Given the description of an element on the screen output the (x, y) to click on. 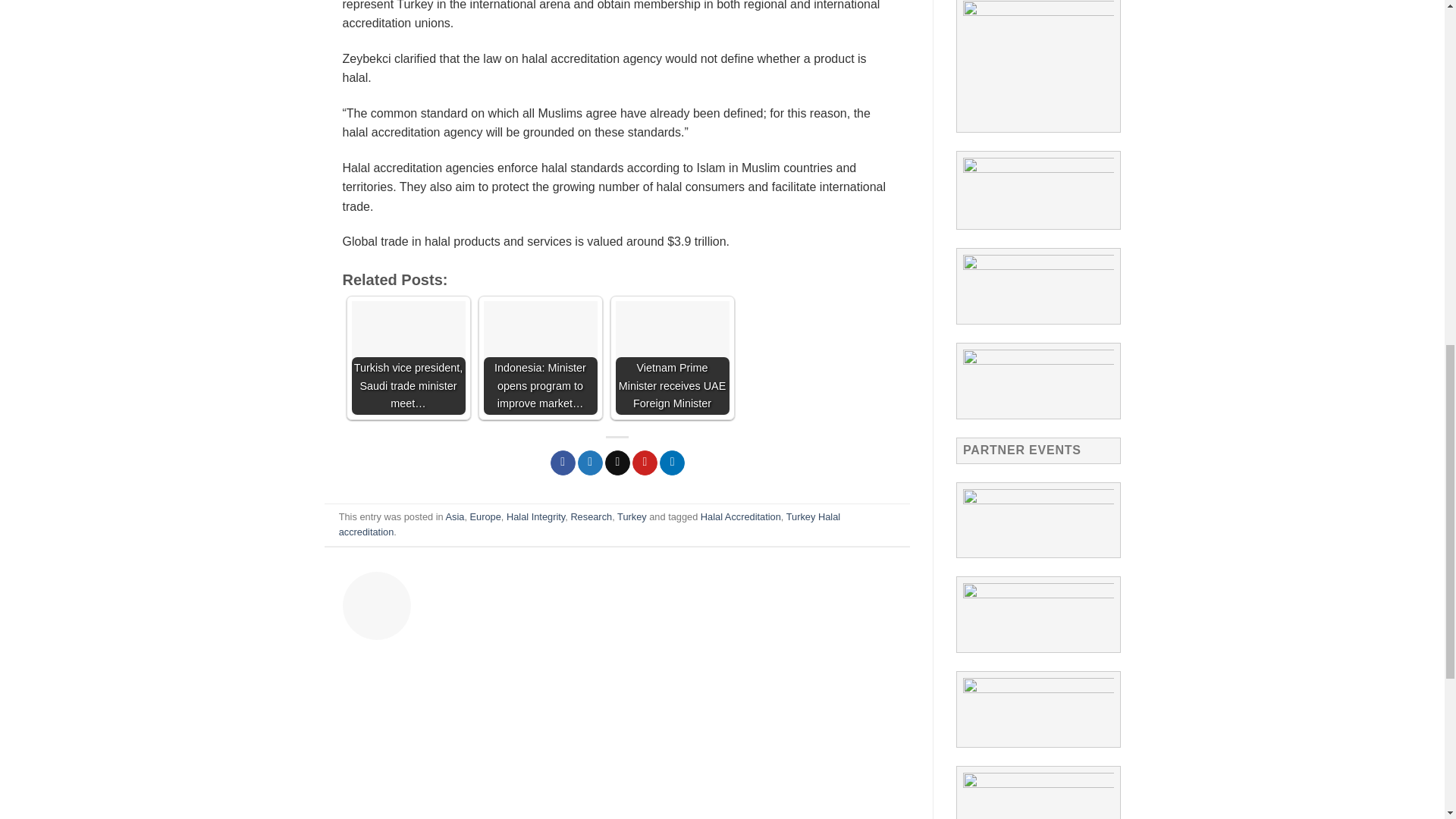
Vietnam Prime Minister receives UAE Foreign Minister (672, 357)
